Given the description of an element on the screen output the (x, y) to click on. 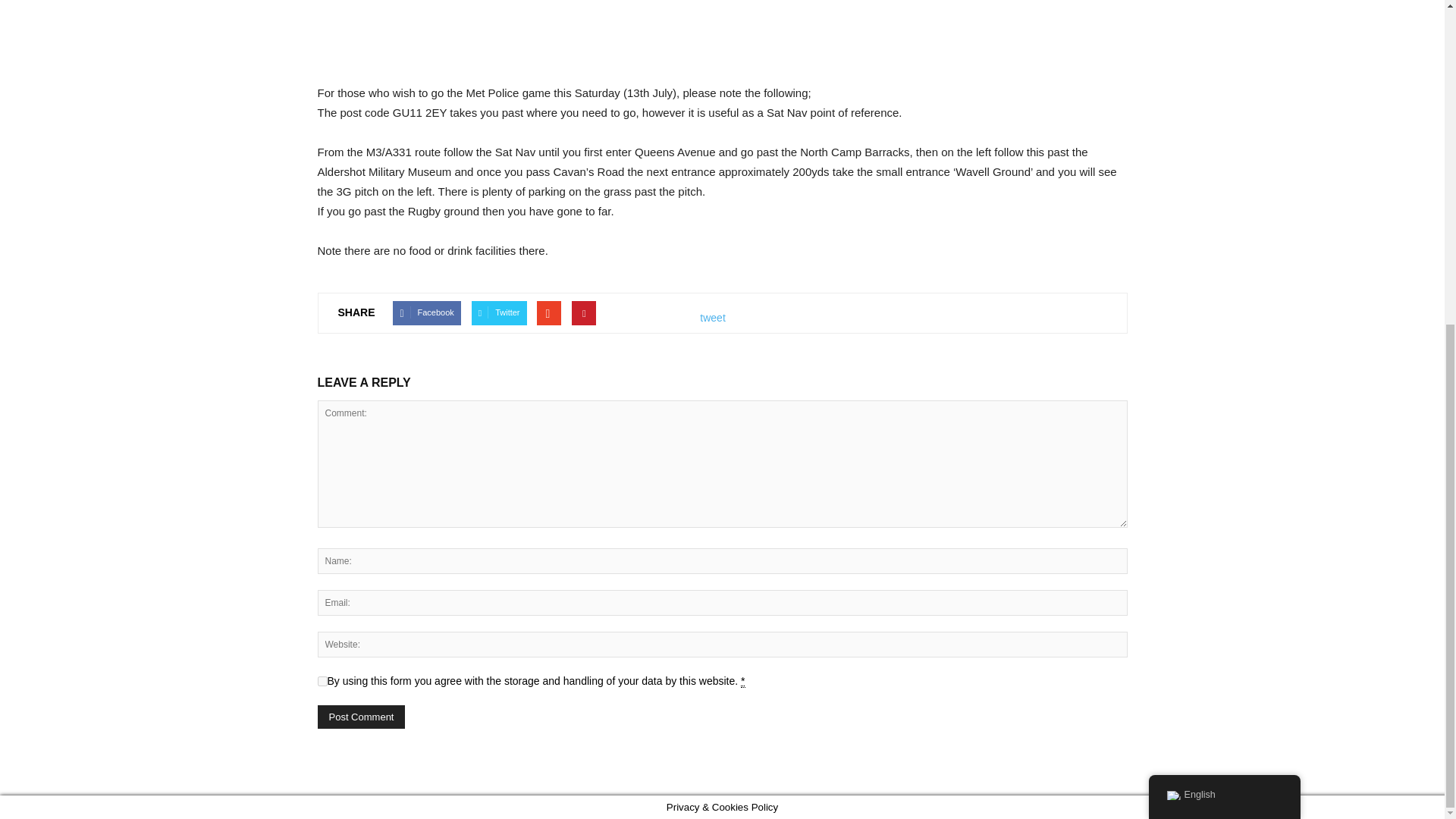
Post Comment (360, 716)
English (1172, 264)
